Given the description of an element on the screen output the (x, y) to click on. 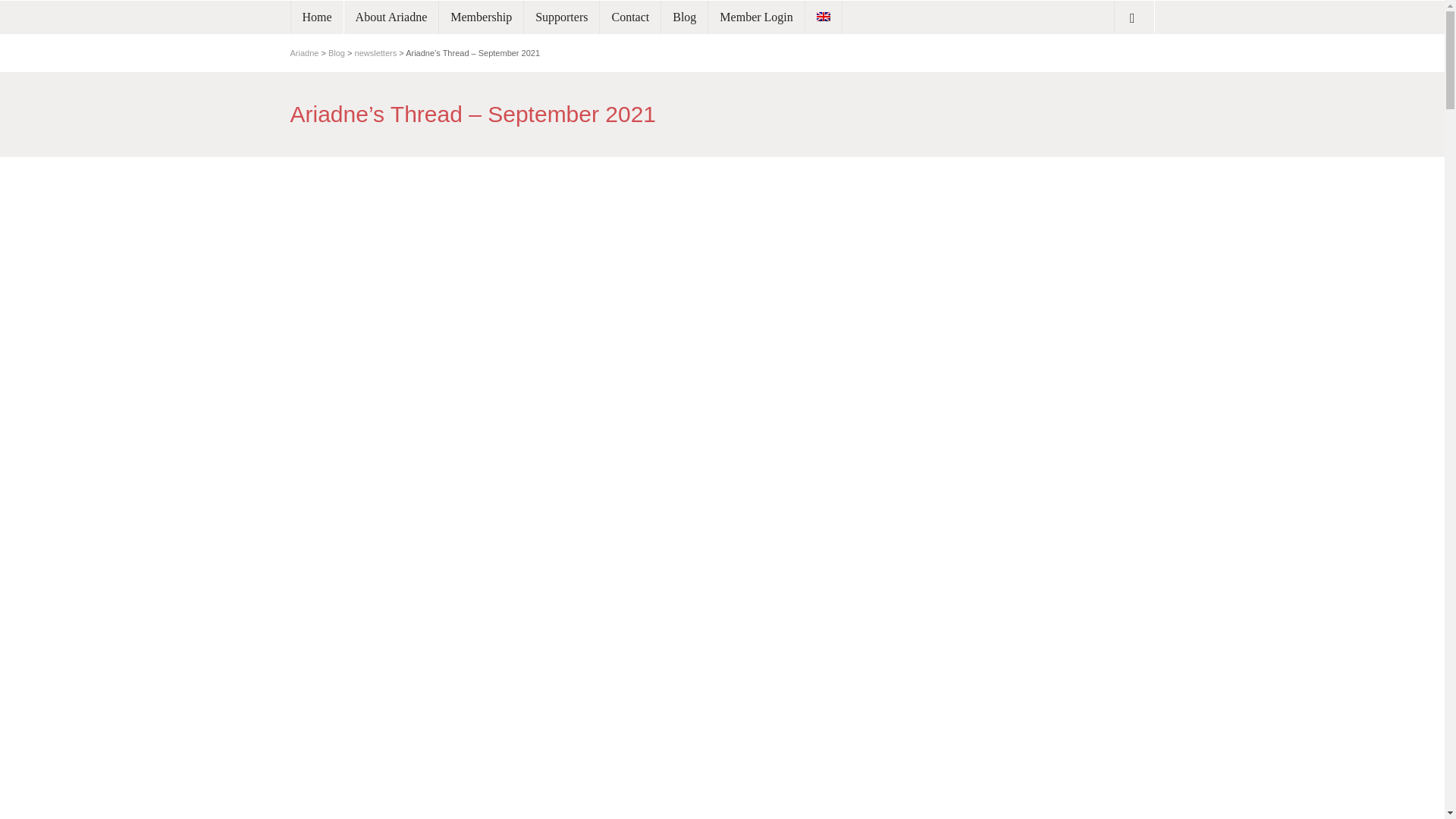
Blog (684, 17)
Blog (337, 52)
Supporters (561, 17)
Home (317, 17)
newsletters (376, 52)
Member Login (755, 17)
Membership (480, 17)
Go to Ariadne. (303, 52)
Contact (630, 17)
About Ariadne (391, 17)
Ariadne (303, 52)
Go to the newsletters category archives. (376, 52)
Go to Blog. (337, 52)
